Given the description of an element on the screen output the (x, y) to click on. 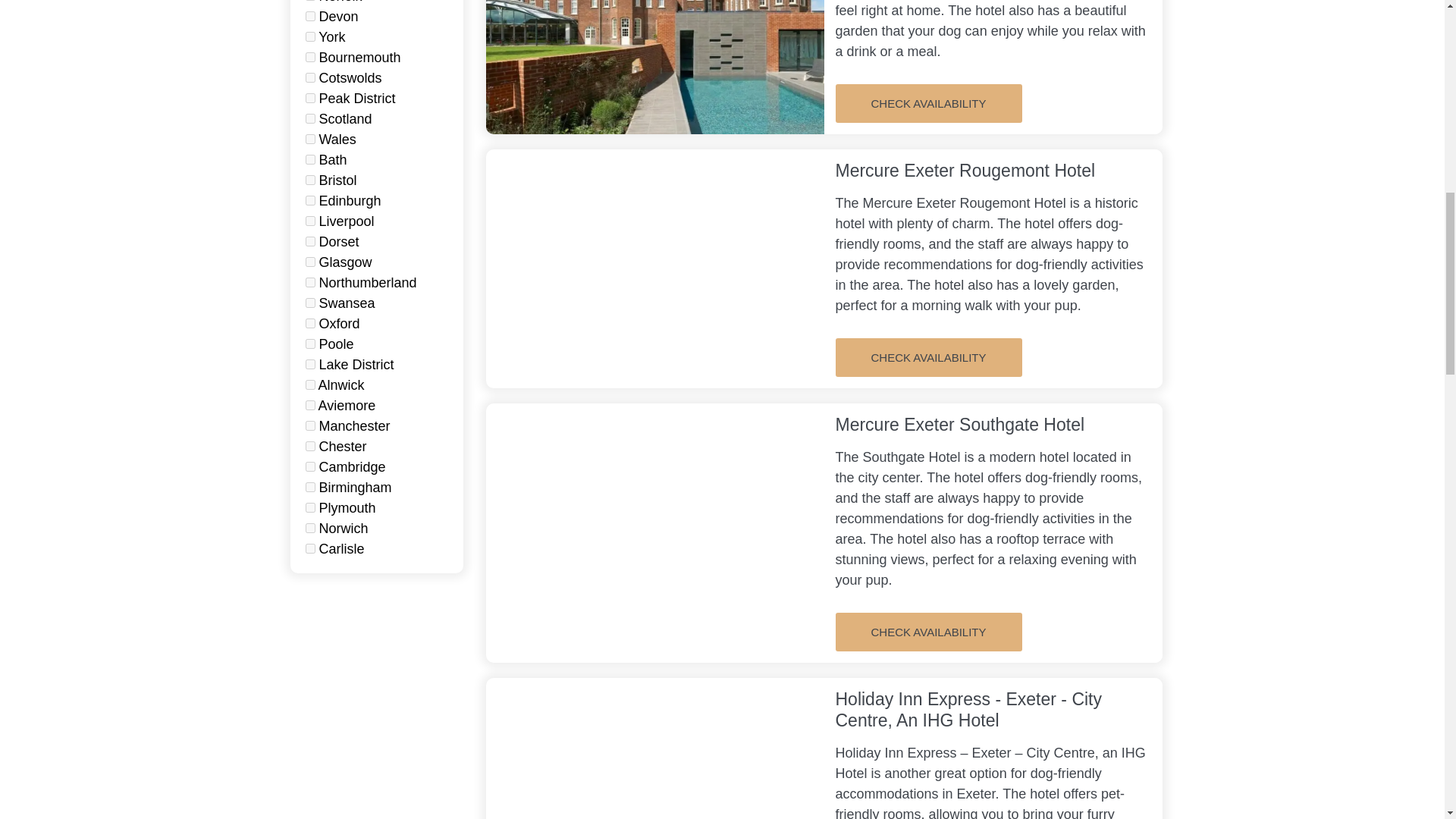
on (309, 139)
on (309, 241)
on (309, 118)
on (309, 36)
on (309, 159)
on (309, 77)
on (309, 16)
on (309, 57)
on (309, 98)
